Given the description of an element on the screen output the (x, y) to click on. 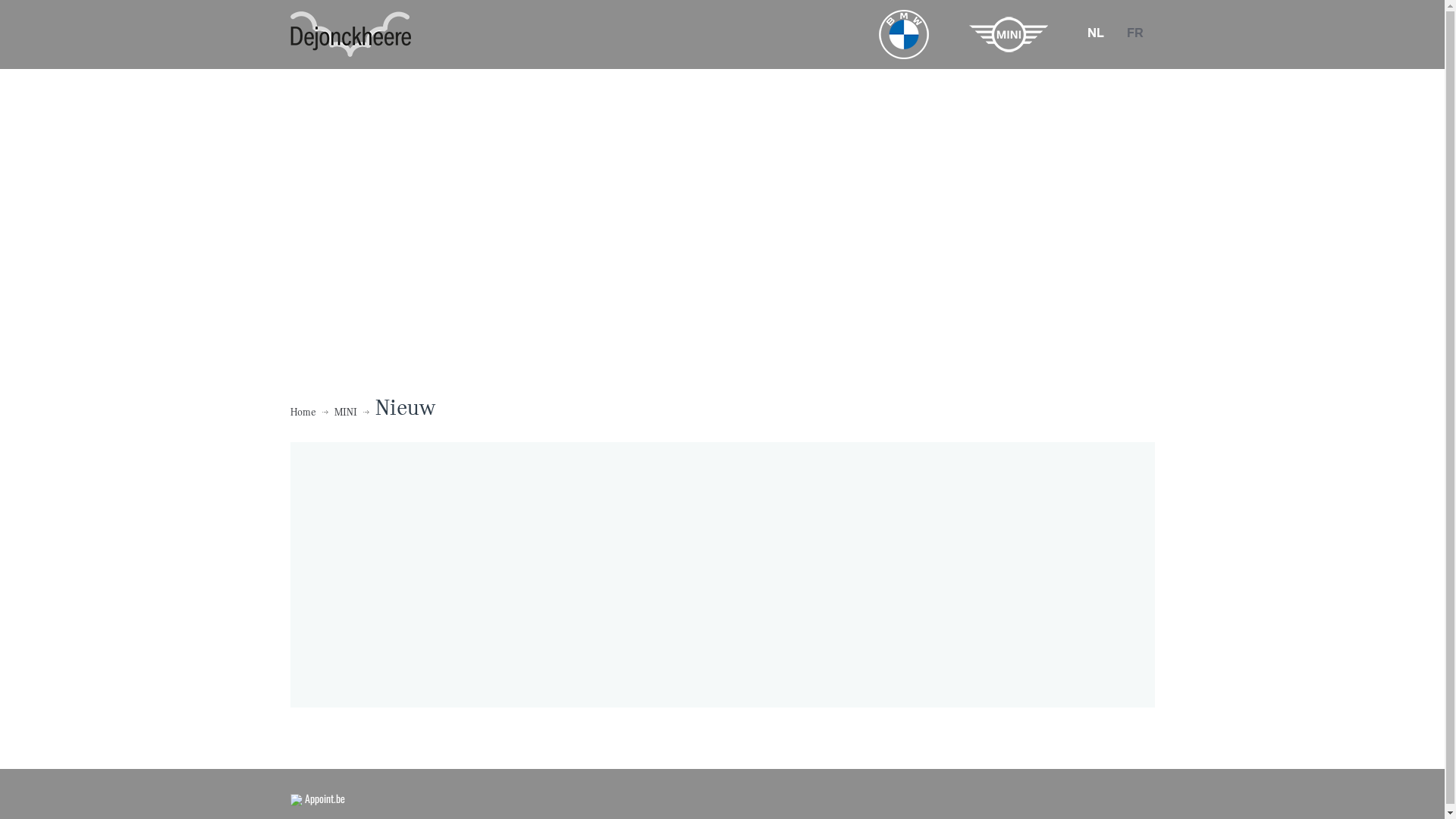
MINI Element type: text (344, 412)
Home Element type: text (302, 412)
FR Element type: text (1134, 32)
 Appoint.be Element type: text (316, 798)
NL Element type: text (1094, 32)
